Given the description of an element on the screen output the (x, y) to click on. 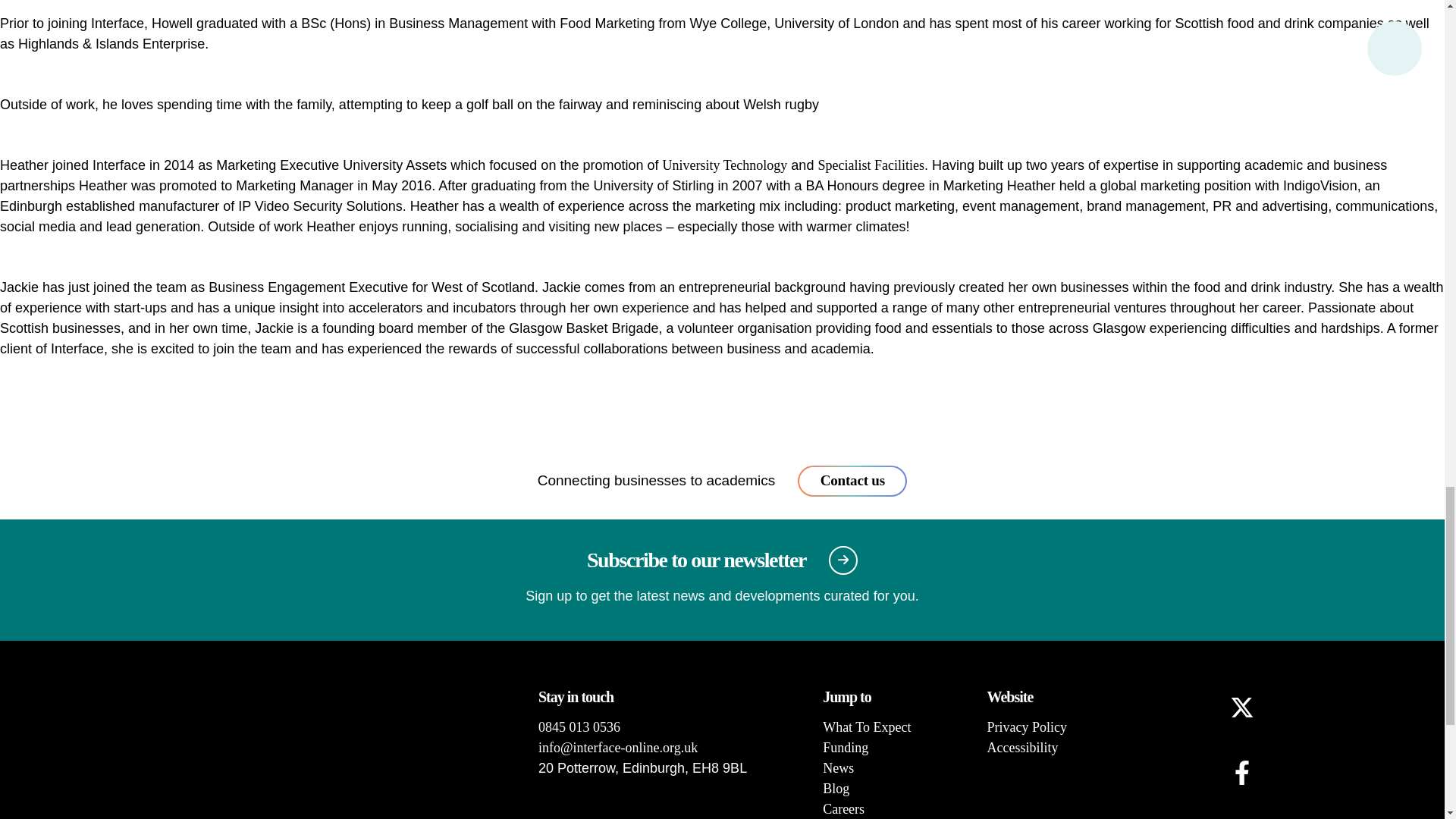
Contact us (852, 481)
0845 013 0536 (579, 726)
Blog (835, 788)
Funding (844, 747)
facebook-f (1242, 772)
News (837, 767)
What To Expect (866, 726)
Privacy Policy (1027, 726)
twitter (1242, 706)
Accessibility (1022, 747)
